Given the description of an element on the screen output the (x, y) to click on. 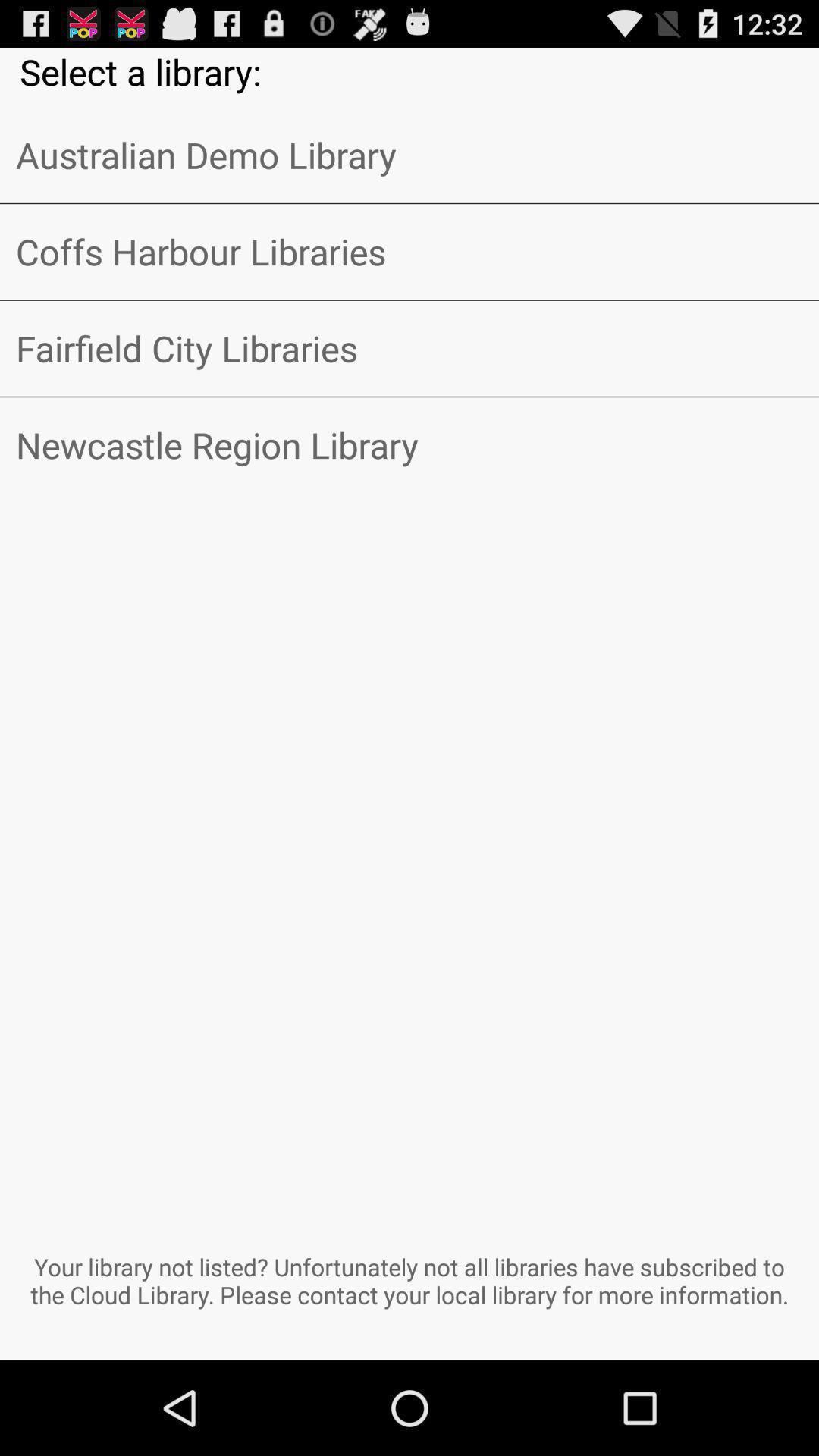
tap the item below the coffs harbour libraries item (409, 348)
